Given the description of an element on the screen output the (x, y) to click on. 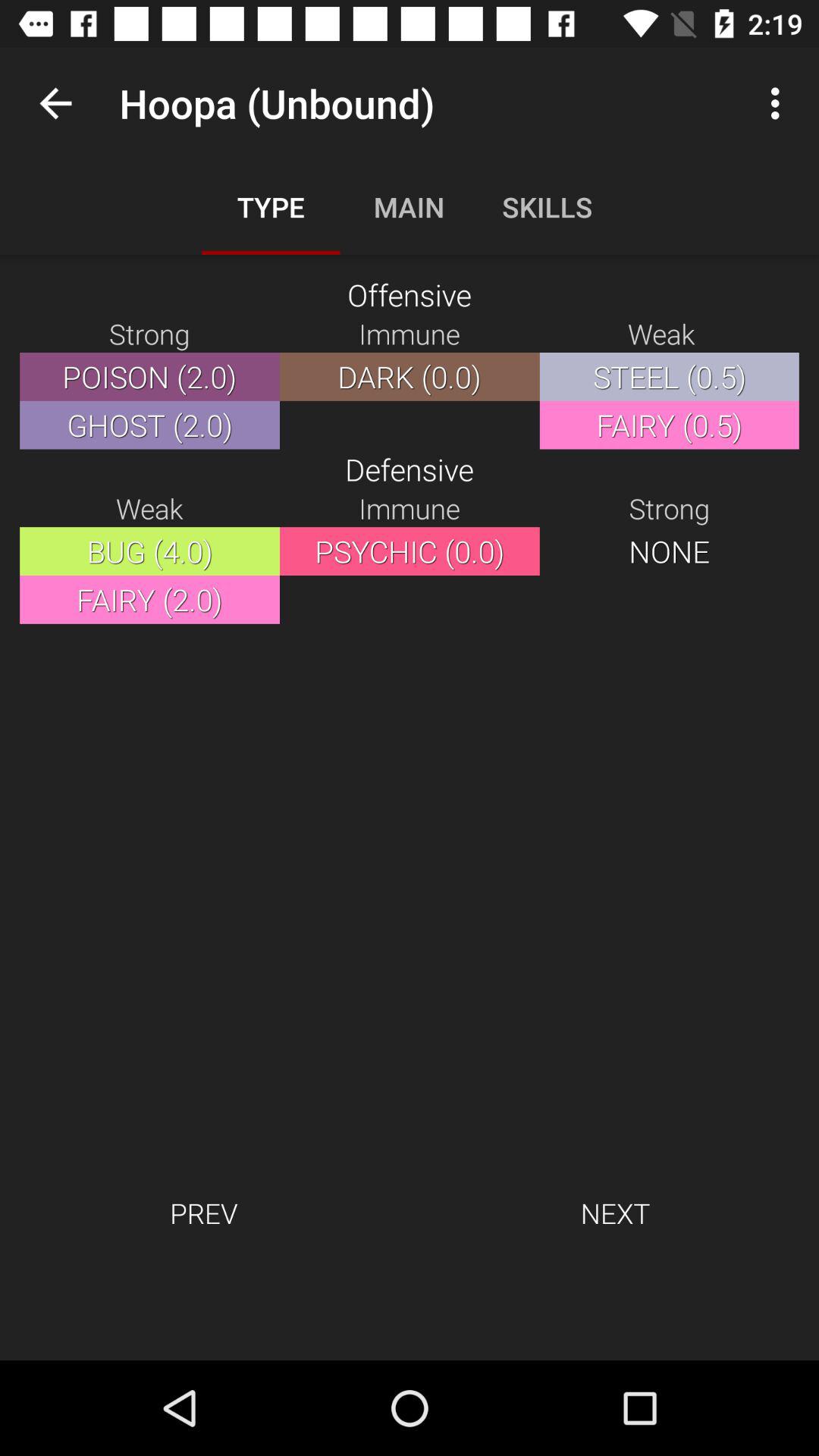
turn off item to the left of the next (203, 1212)
